Given the description of an element on the screen output the (x, y) to click on. 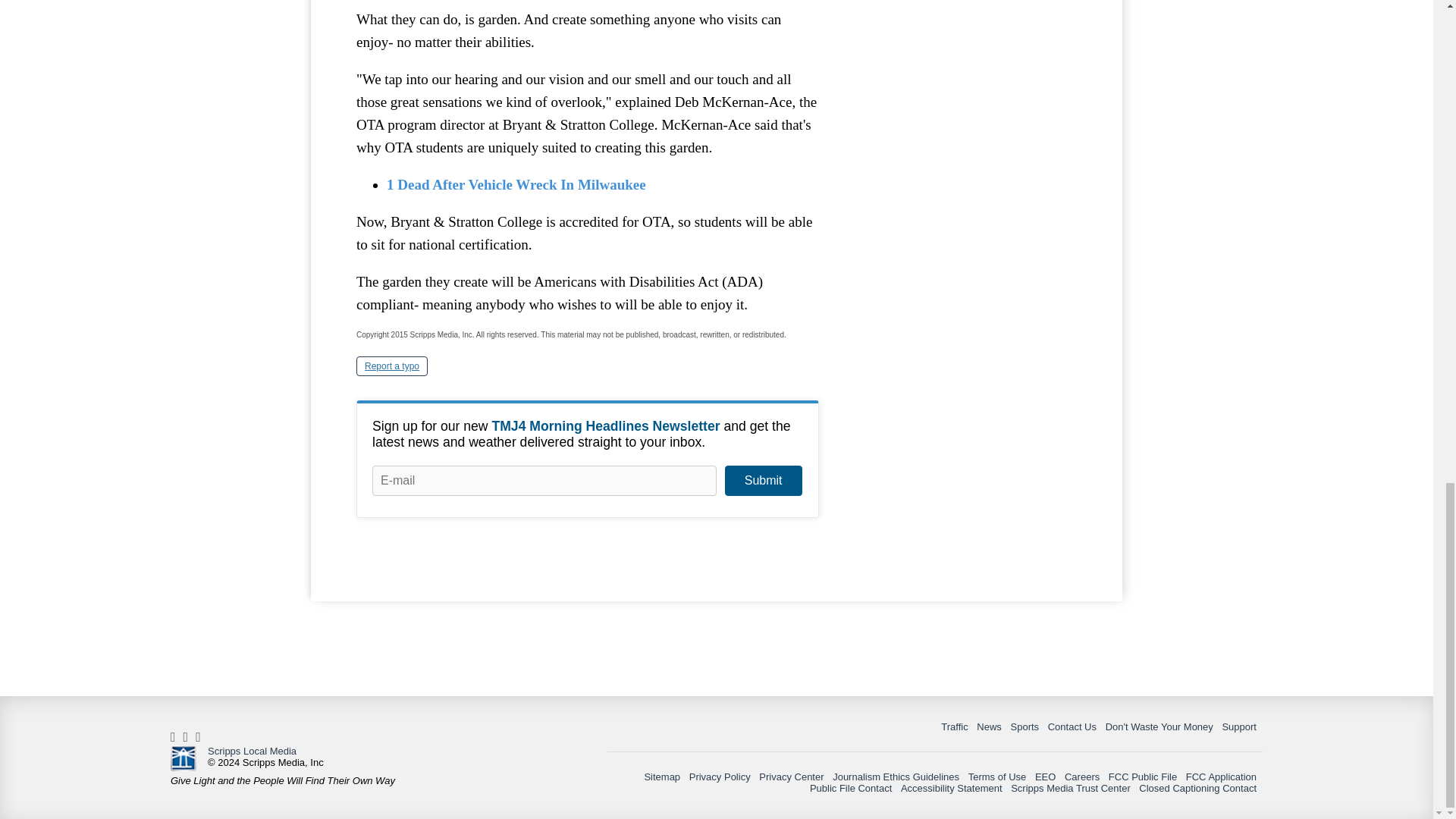
Submit (763, 481)
